Given the description of an element on the screen output the (x, y) to click on. 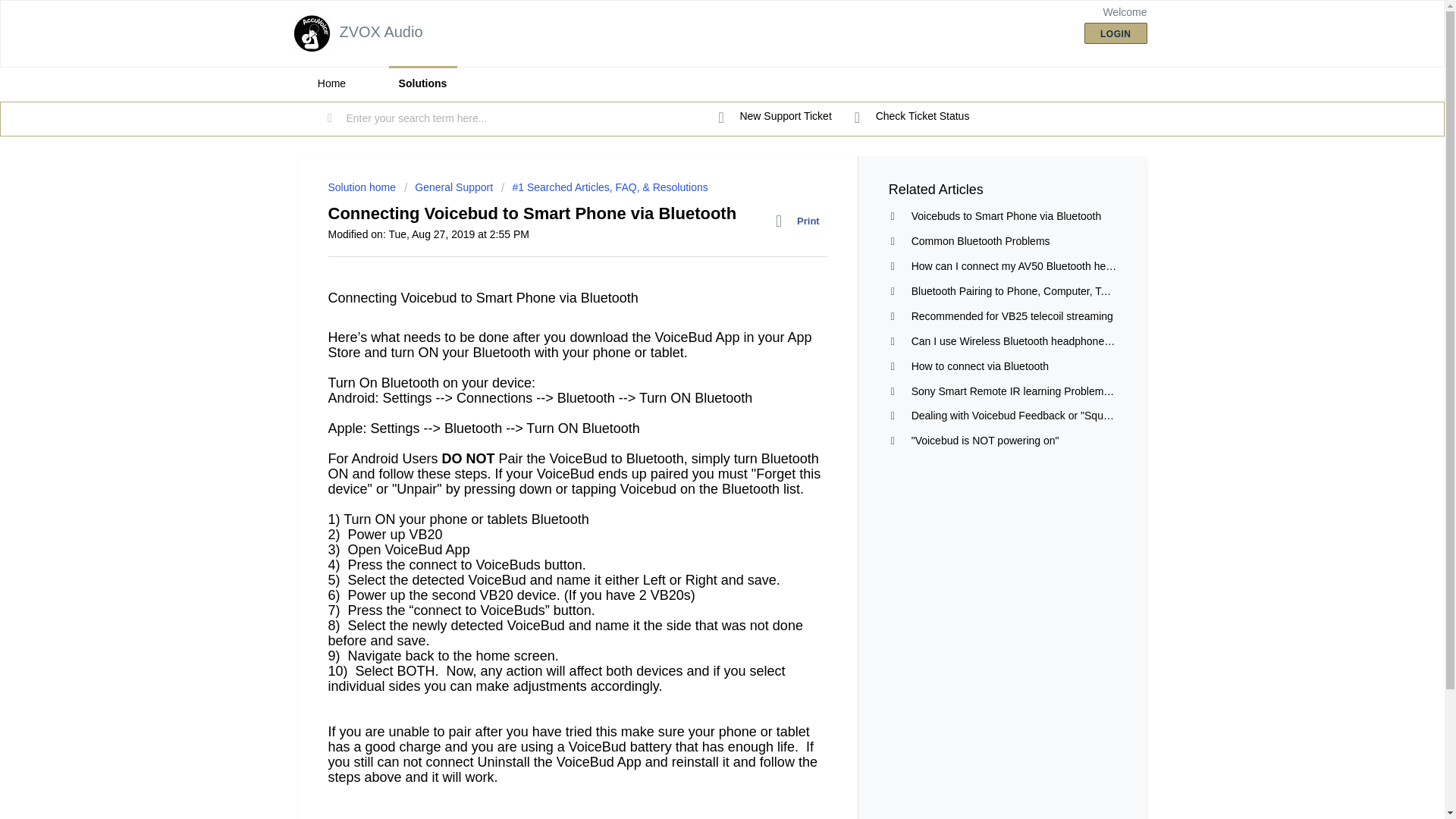
Print this Article (801, 220)
Check ticket status (911, 116)
LOGIN (1115, 33)
Common Bluetooth Problems (980, 241)
Recommended for VB25 telecoil streaming (1012, 316)
General Support (450, 186)
New Support Ticket (775, 116)
How to connect via Bluetooth (979, 366)
Can I use Wireless Bluetooth headphones with a smart TV? (1051, 340)
Check Ticket Status (911, 116)
"Voicebud is NOT powering on" (985, 440)
Home (331, 83)
How can I connect my AV50 Bluetooth headphones to my LG TV? (1066, 265)
Print (801, 220)
Dealing with Voicebud Feedback or "Squealing" (1023, 415)
